Given the description of an element on the screen output the (x, y) to click on. 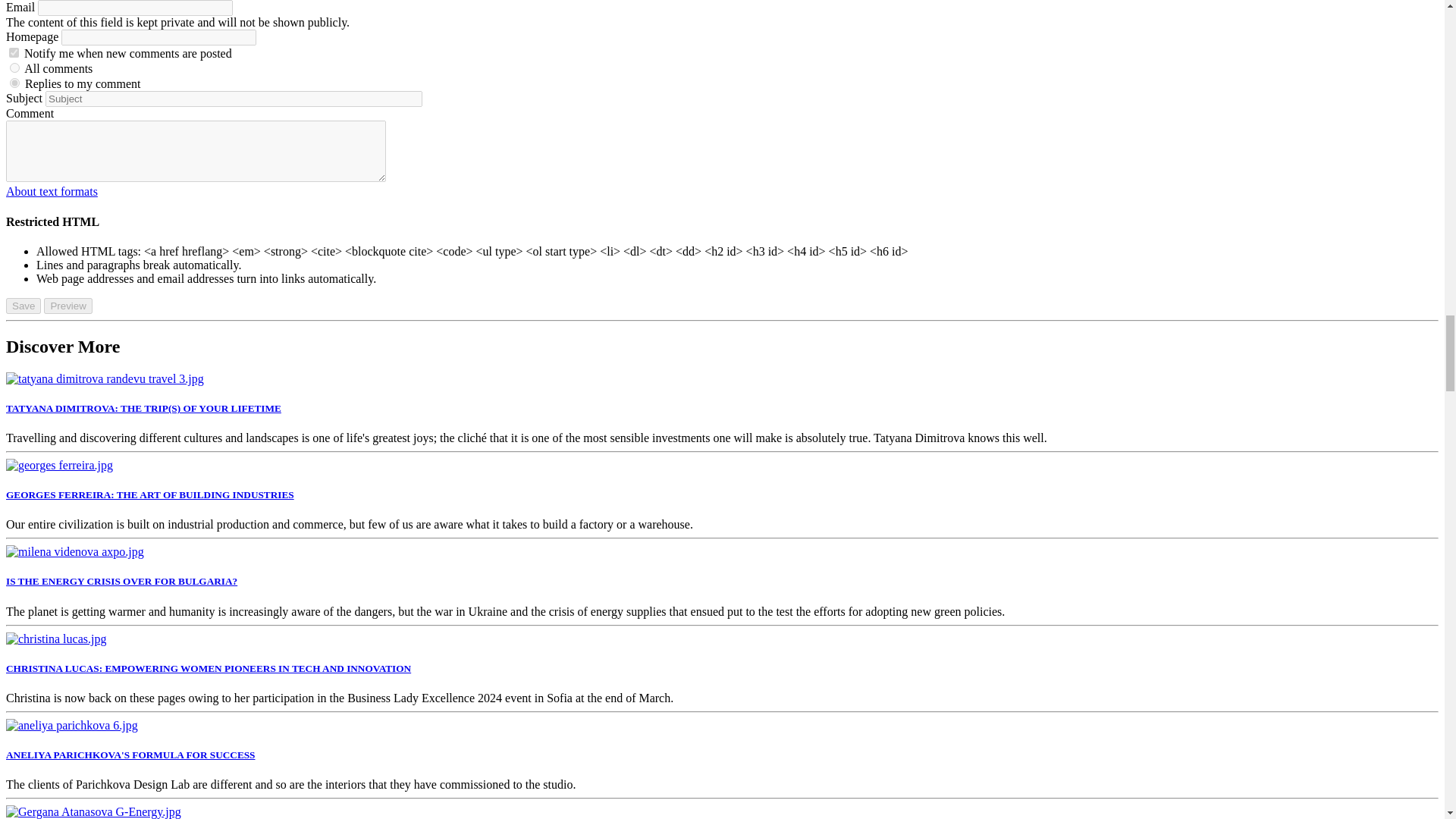
2 (15, 82)
1 (15, 67)
Preview (67, 305)
Save (22, 305)
1 (13, 52)
